Given the description of an element on the screen output the (x, y) to click on. 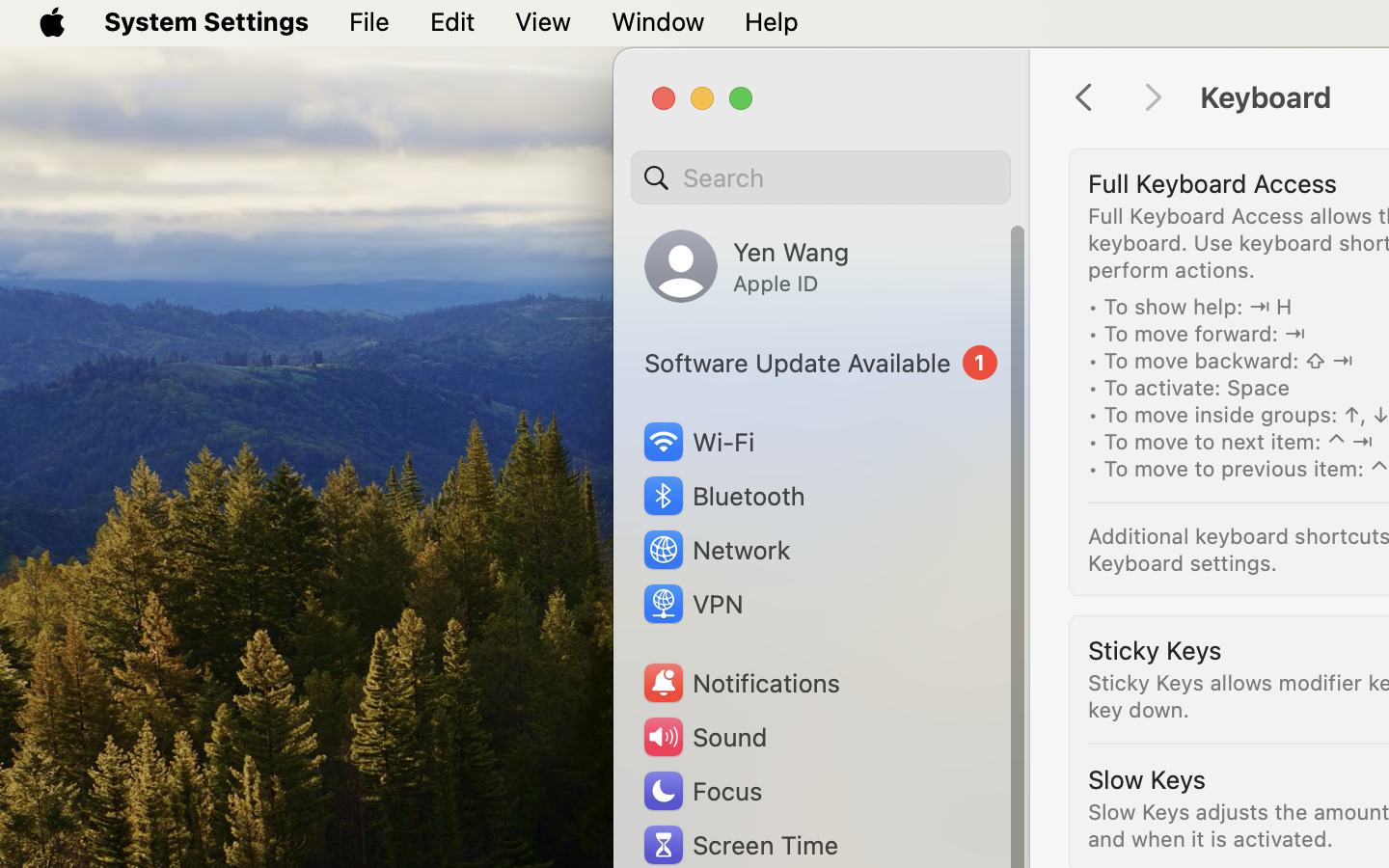
Sound Element type: AXStaticText (703, 736)
VPN Element type: AXStaticText (691, 603)
Screen Time Element type: AXStaticText (739, 844)
Wi‑Fi Element type: AXStaticText (697, 441)
